Given the description of an element on the screen output the (x, y) to click on. 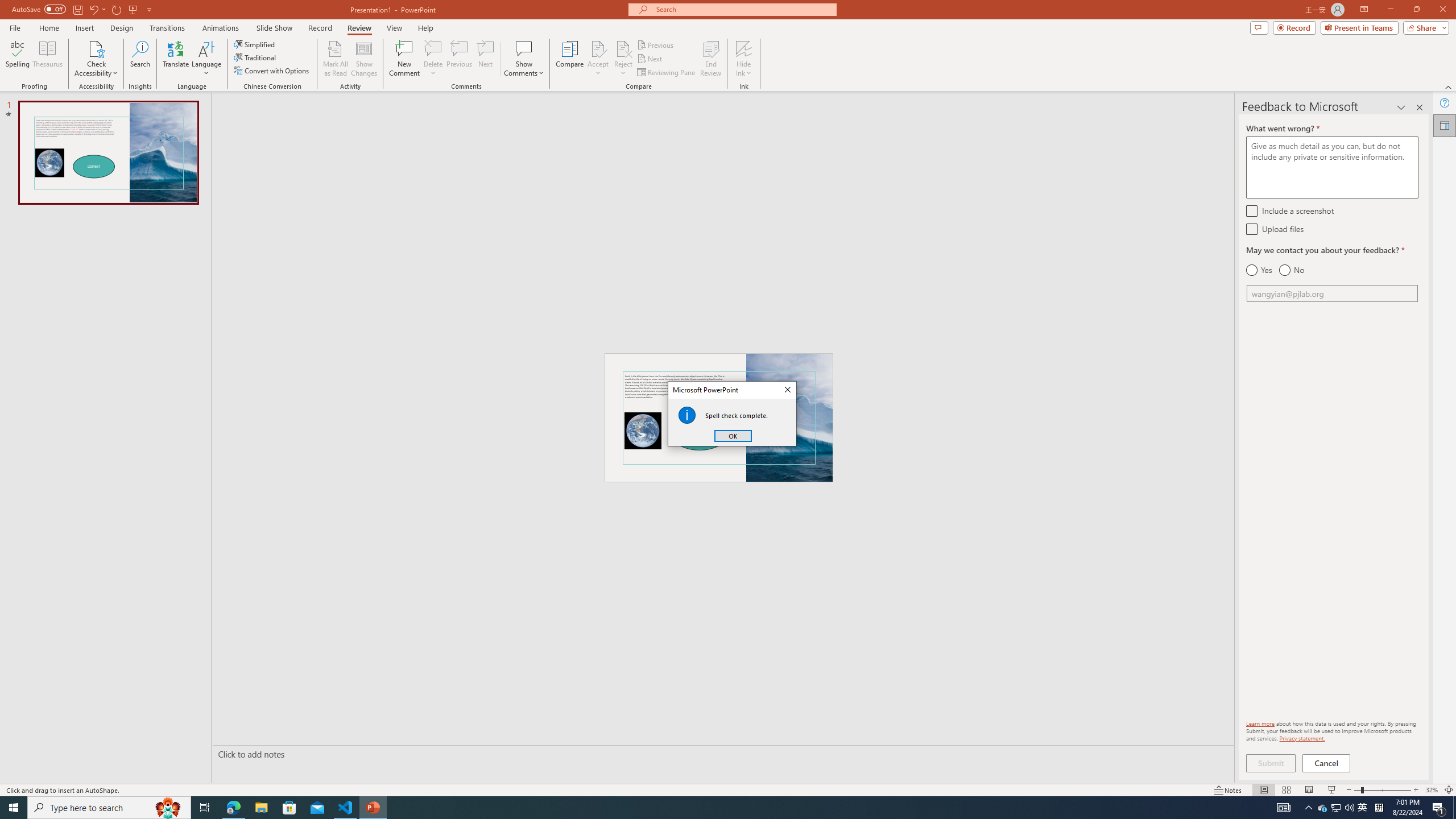
Convert with Options... (272, 69)
Show Changes (363, 58)
Reject Change (622, 48)
Email (1332, 293)
Upload files (1251, 228)
Running applications (700, 807)
Next (649, 58)
Yes (1259, 269)
